Given the description of an element on the screen output the (x, y) to click on. 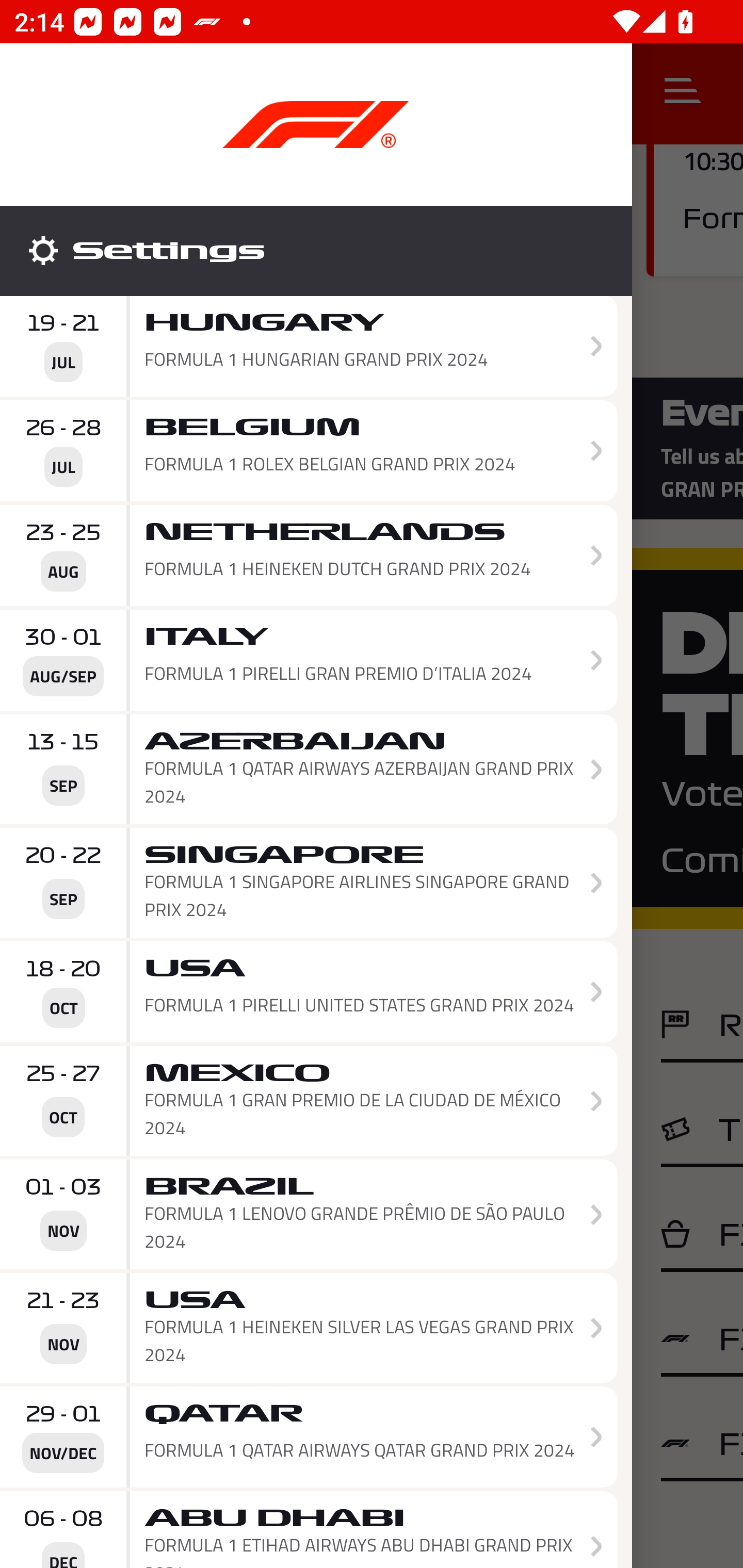
Settings (316, 250)
